Given the description of an element on the screen output the (x, y) to click on. 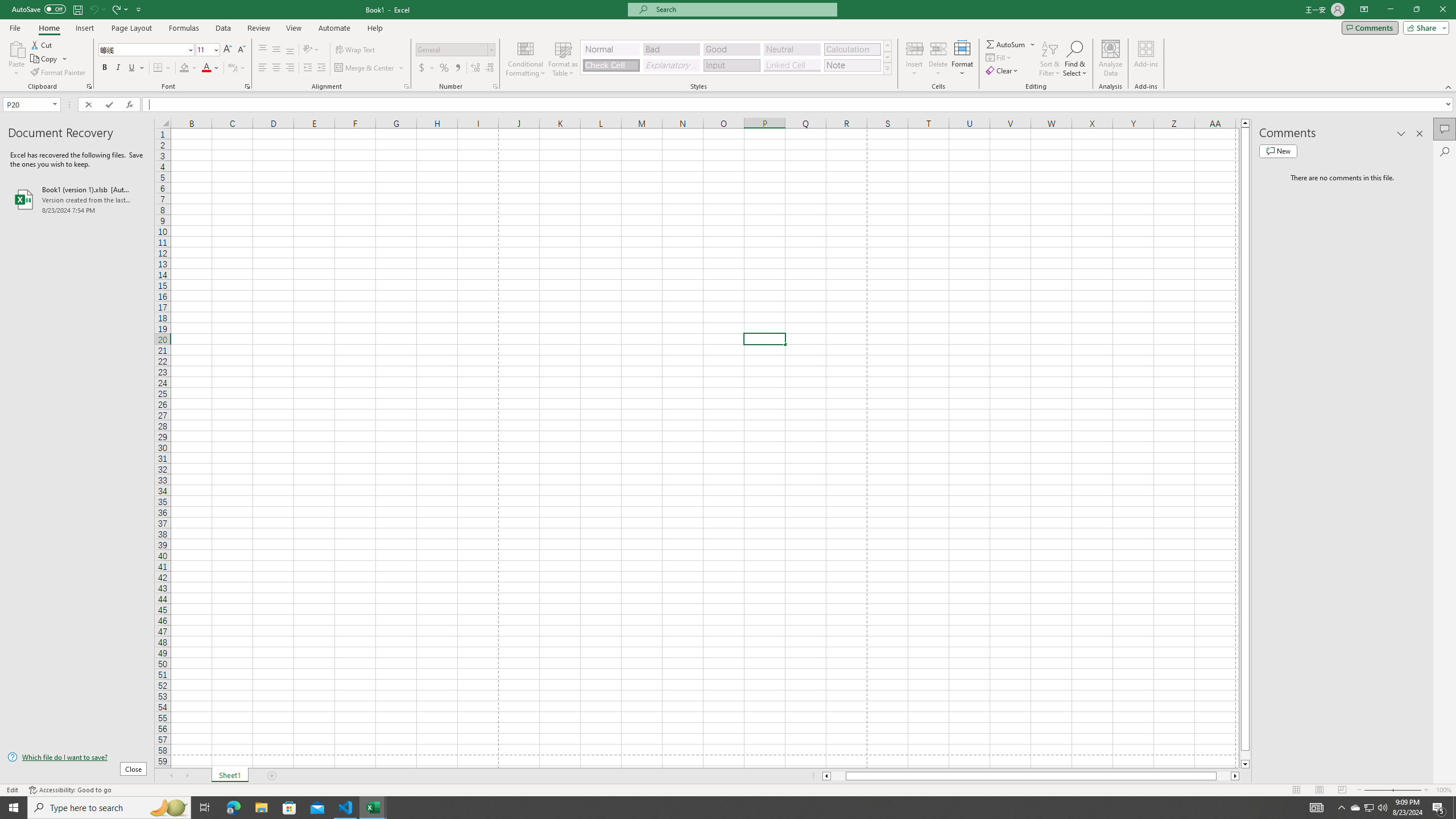
Merge & Center (369, 67)
Book1 (version 1).xlsb  [AutoRecovered] (77, 199)
Delete Cells... (938, 48)
Comments (1444, 128)
Close (1442, 9)
Accounting Number Format (422, 67)
New comment (1278, 151)
Font (147, 49)
Middle Align (276, 49)
Font (142, 49)
Class: MsoCommandBar (728, 45)
Collapse the Ribbon (1448, 86)
